Given the description of an element on the screen output the (x, y) to click on. 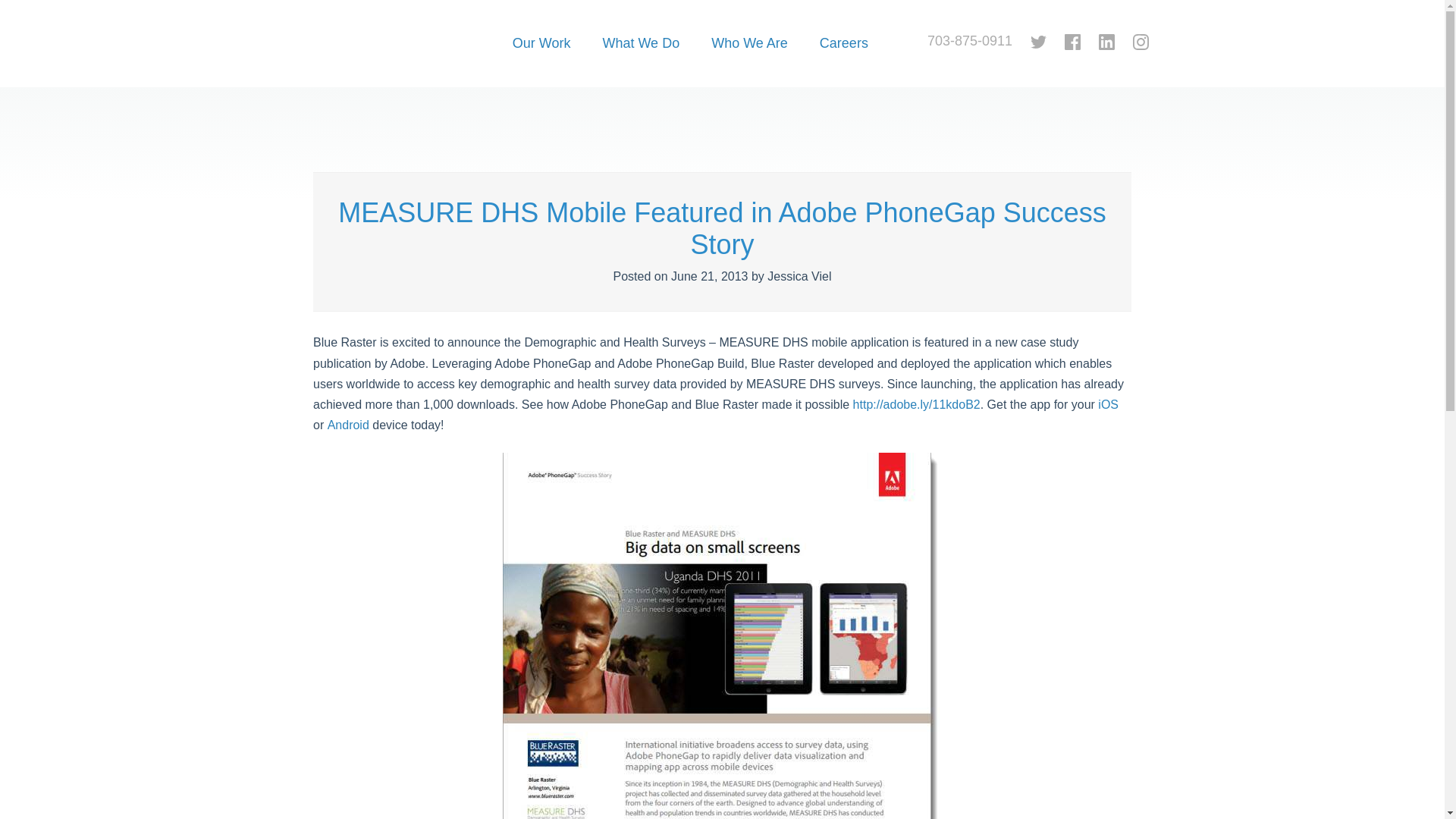
Careers (843, 59)
What We Do (640, 59)
Our Work (541, 59)
iOS (1107, 404)
703-875-0911 (969, 41)
MEASURE DHS Mobile - Apple App Store (1107, 404)
Who We Are (749, 59)
MEASURE DHS Mobile - Google Play (348, 424)
MEASURE DHS Mobile Adobe PhoneGap Success Story (916, 404)
Android (348, 424)
